Given the description of an element on the screen output the (x, y) to click on. 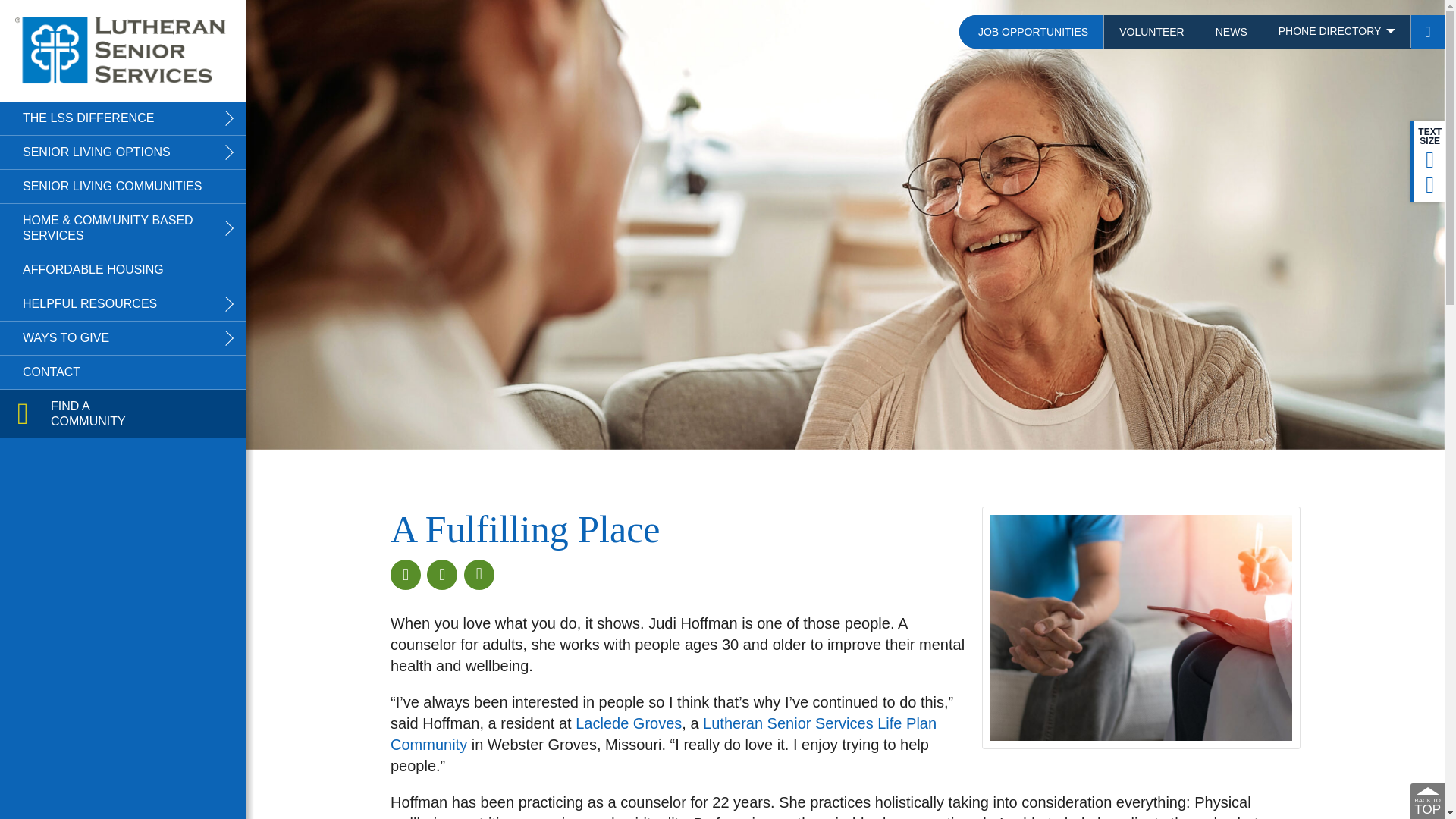
HELPFUL RESOURCES (123, 304)
Facebook (405, 574)
Lutheran Senior Services (123, 50)
SENIOR LIVING COMMUNITIES (123, 186)
WAYS TO GIVE (123, 337)
CONTACT (123, 372)
Submit (103, 344)
AFFORDABLE HOUSING (123, 269)
SENIOR LIVING OPTIONS (123, 151)
Twitter (441, 574)
THE LSS DIFFERENCE (123, 118)
LinkedIn (479, 574)
JOB OPPORTUNITIES (1031, 31)
